Given the description of an element on the screen output the (x, y) to click on. 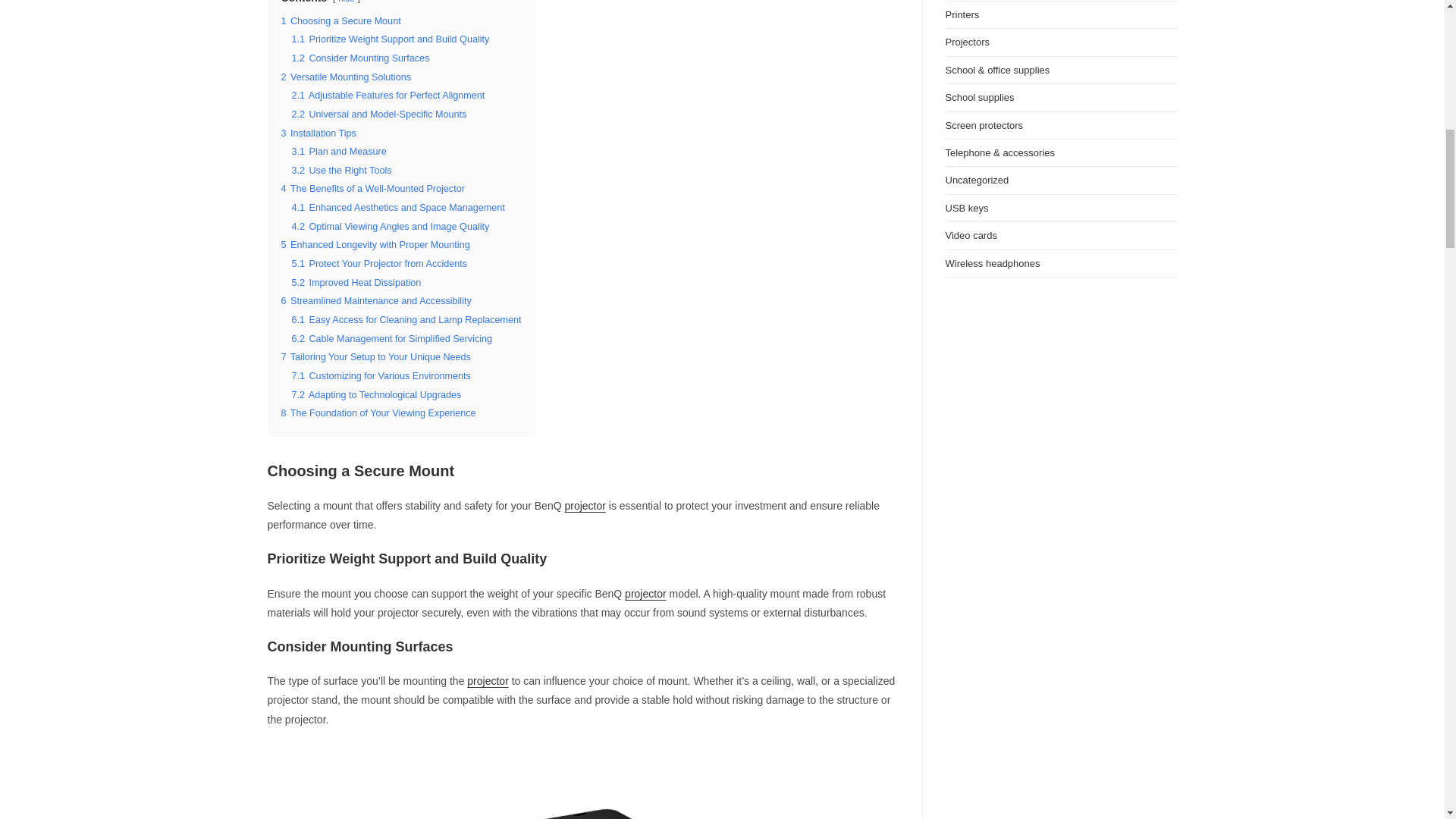
3.2 Use the Right Tools (341, 170)
4.2 Optimal Viewing Angles and Image Quality (390, 226)
4.1 Enhanced Aesthetics and Space Management (397, 207)
3 Installation Tips (318, 132)
hide (345, 1)
7.2 Adapting to Technological Upgrades (376, 394)
projector (644, 593)
7.1 Customizing for Various Environments (380, 376)
5.2 Improved Heat Dissipation (355, 282)
1.2 Consider Mounting Surfaces (360, 58)
